Given the description of an element on the screen output the (x, y) to click on. 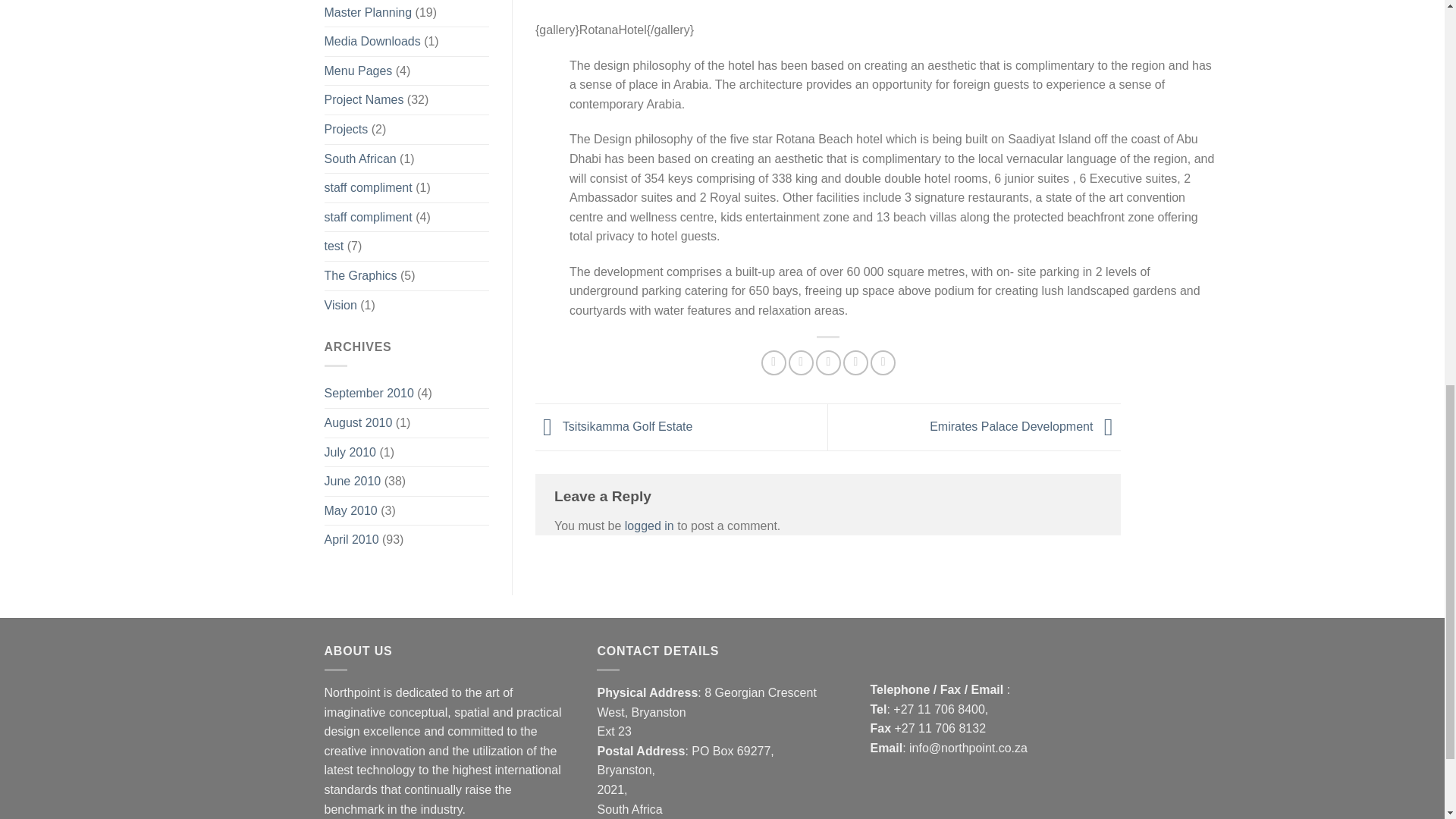
Projects (346, 129)
Project Names (364, 99)
Share on LinkedIn (882, 362)
Menu Pages (358, 70)
Media Downloads (372, 41)
staff compliment (368, 187)
staff compliment (368, 217)
Share on Twitter (801, 362)
Email to a Friend (828, 362)
Master Planning (368, 13)
